Given the description of an element on the screen output the (x, y) to click on. 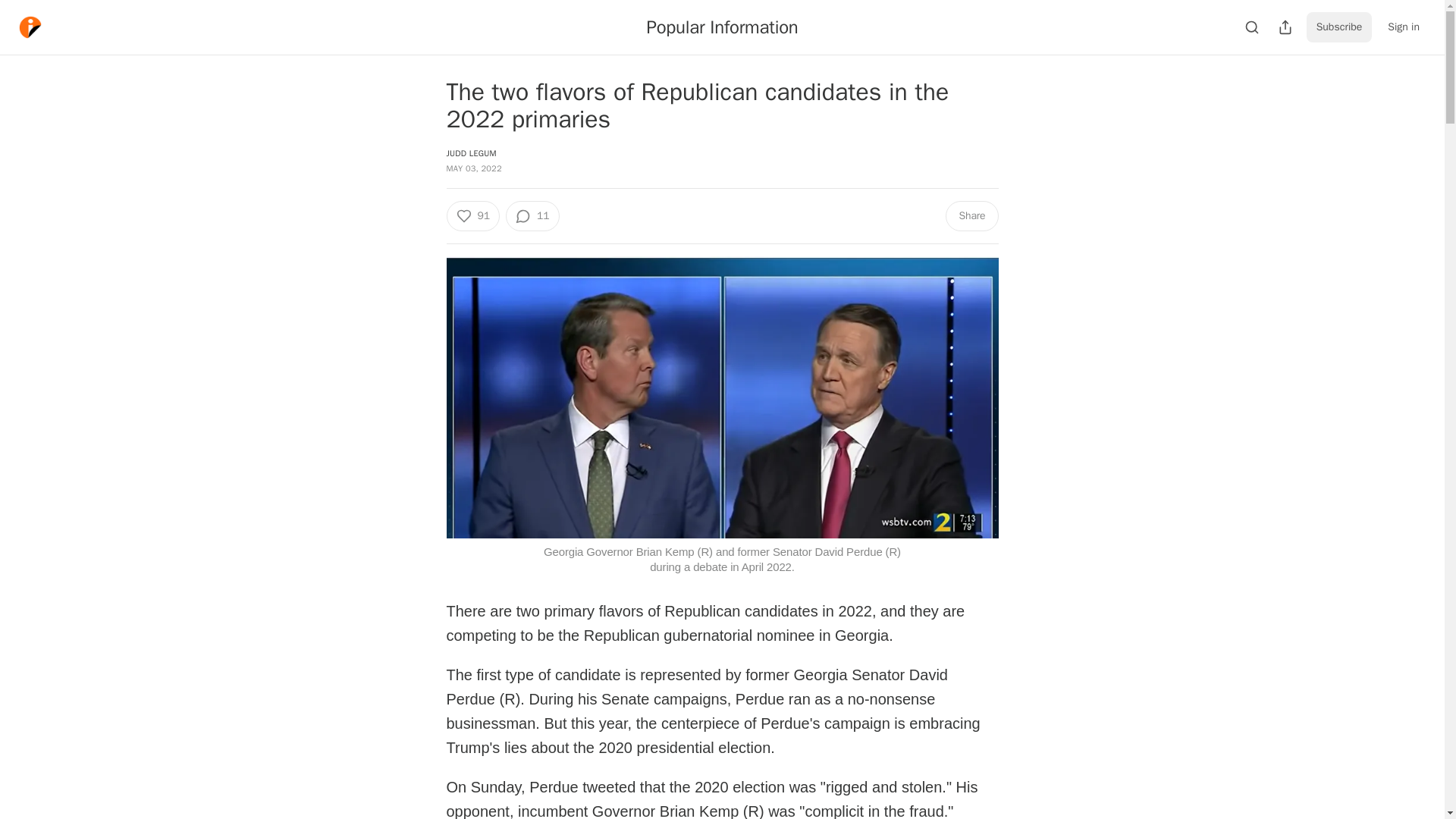
Subscribe (1339, 27)
Popular Information (721, 26)
Share (970, 215)
JUDD LEGUM (470, 153)
11 (532, 215)
91 (472, 215)
Sign in (1403, 27)
